Given the description of an element on the screen output the (x, y) to click on. 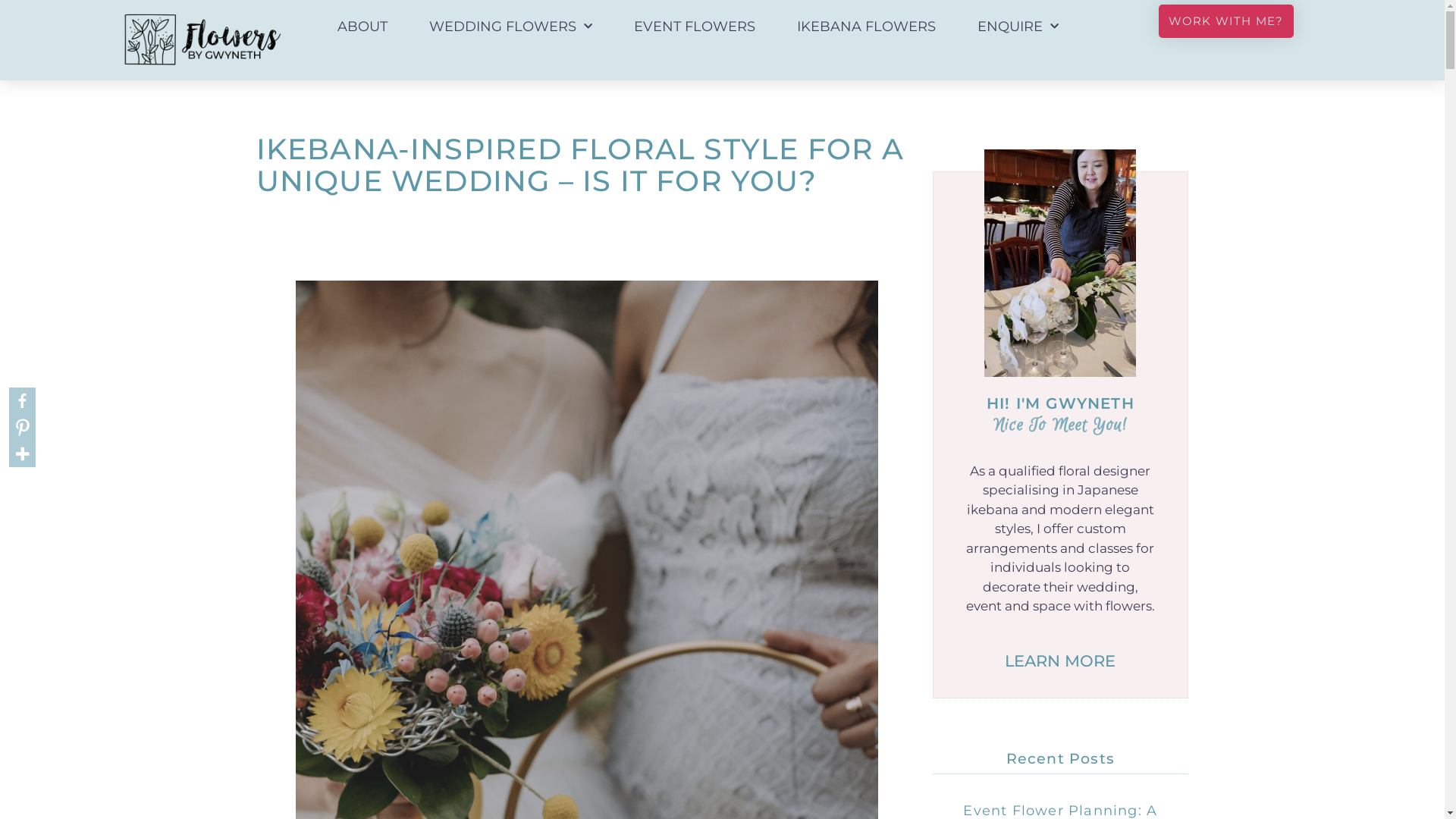
WORK WITH ME? Element type: text (1225, 20)
LEARN MORE Element type: text (1059, 660)
IKEBANA FLOWERS Element type: text (865, 26)
Pinterest Element type: hover (22, 427)
WEDDING FLOWERS Element type: text (510, 26)
More Element type: hover (22, 453)
ABOUT Element type: text (362, 26)
Facebook Element type: hover (22, 400)
ENQUIRE Element type: text (1017, 26)
EVENT FLOWERS Element type: text (694, 26)
